Given the description of an element on the screen output the (x, y) to click on. 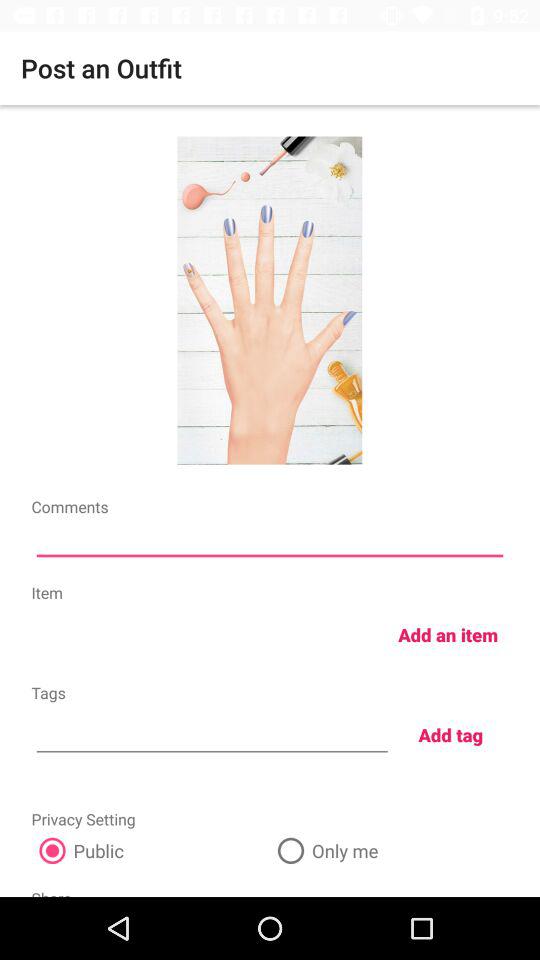
comments section (269, 541)
